Given the description of an element on the screen output the (x, y) to click on. 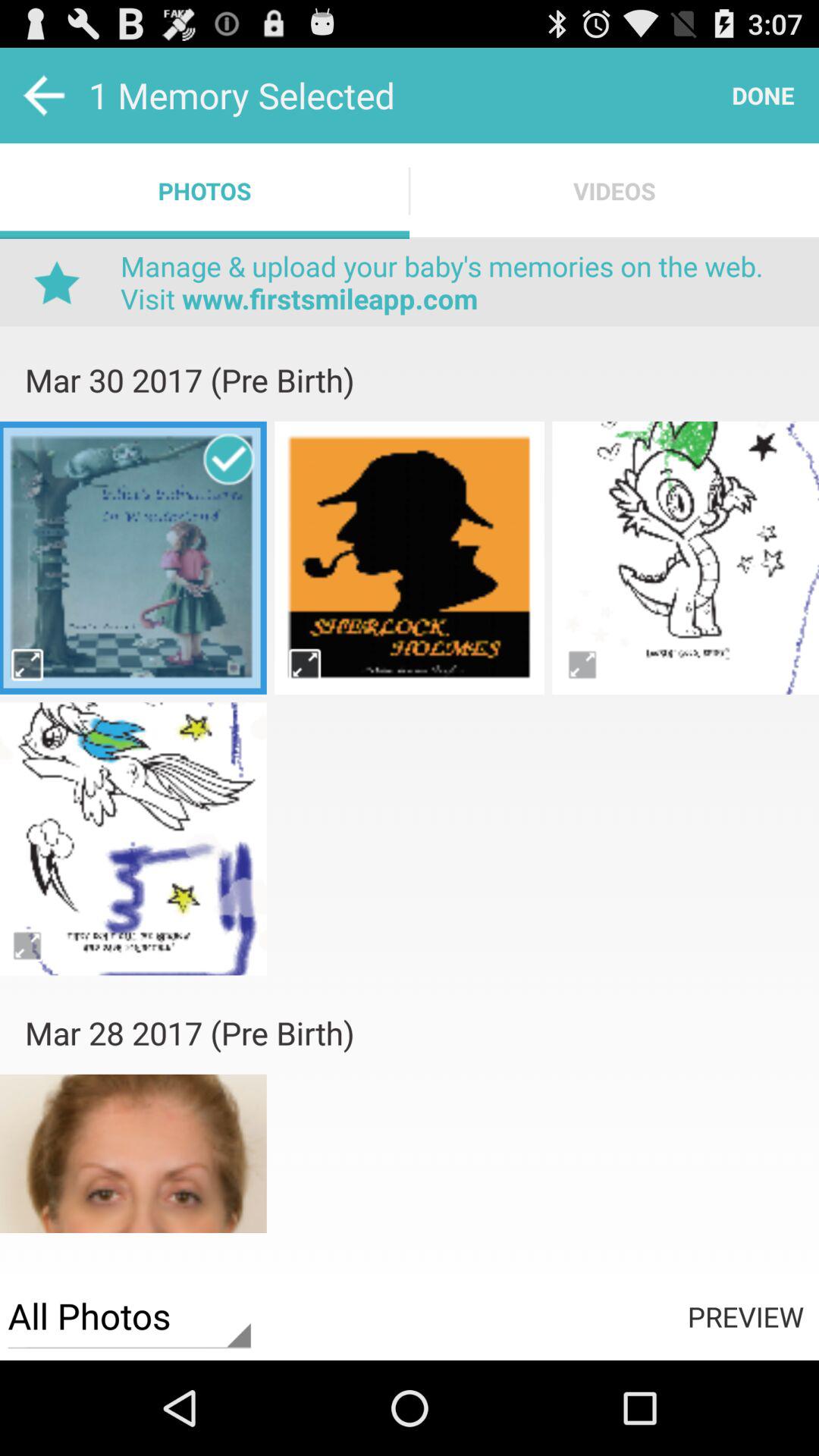
zoom in (304, 664)
